Given the description of an element on the screen output the (x, y) to click on. 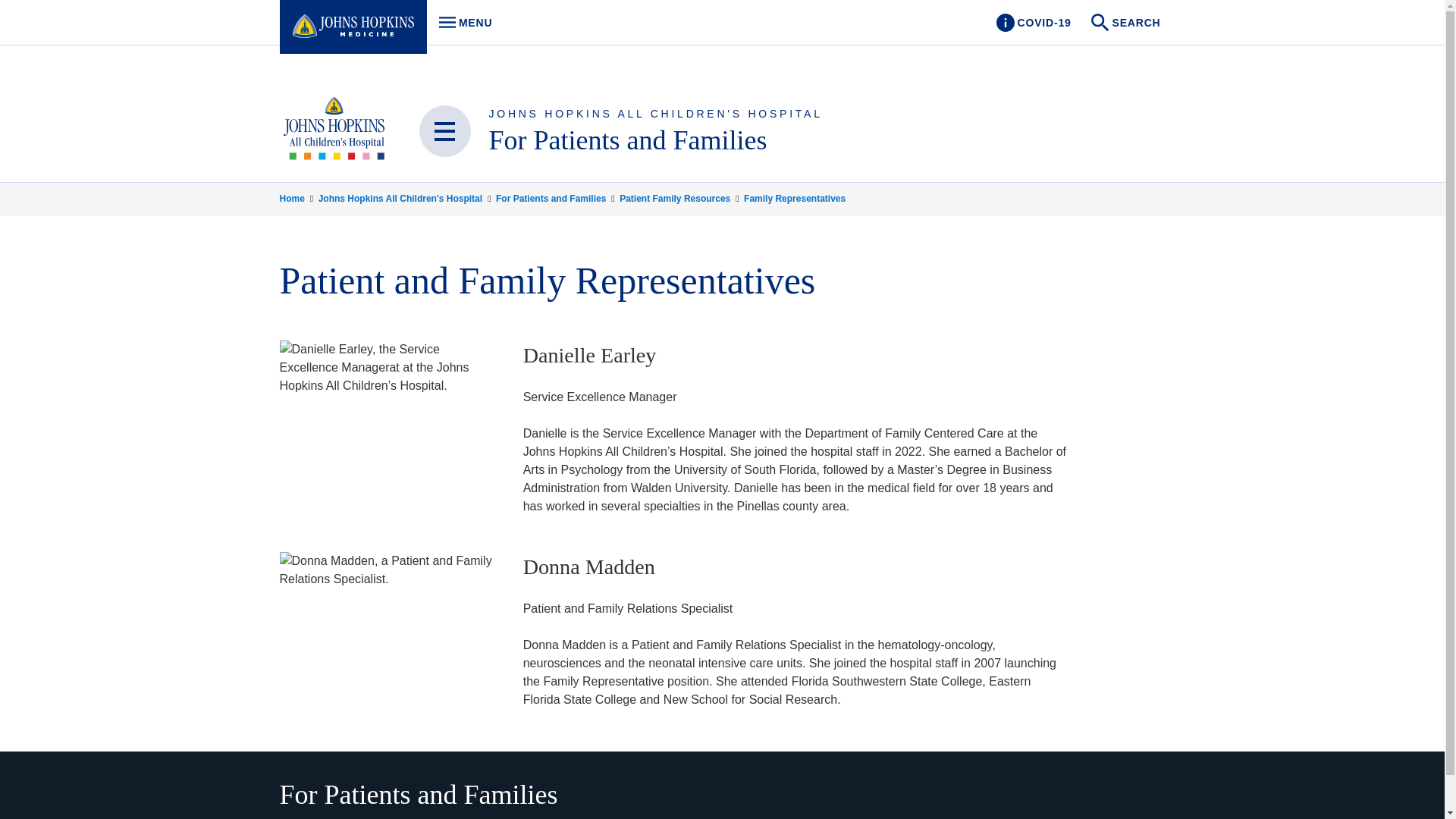
Close Main Menu (461, 22)
JOHNS HOPKINS ALL CHILDREN'S HOSPITAL (444, 131)
COVID-19 (654, 113)
SEARCH (1033, 22)
For Patients and Families (1126, 22)
